Given the description of an element on the screen output the (x, y) to click on. 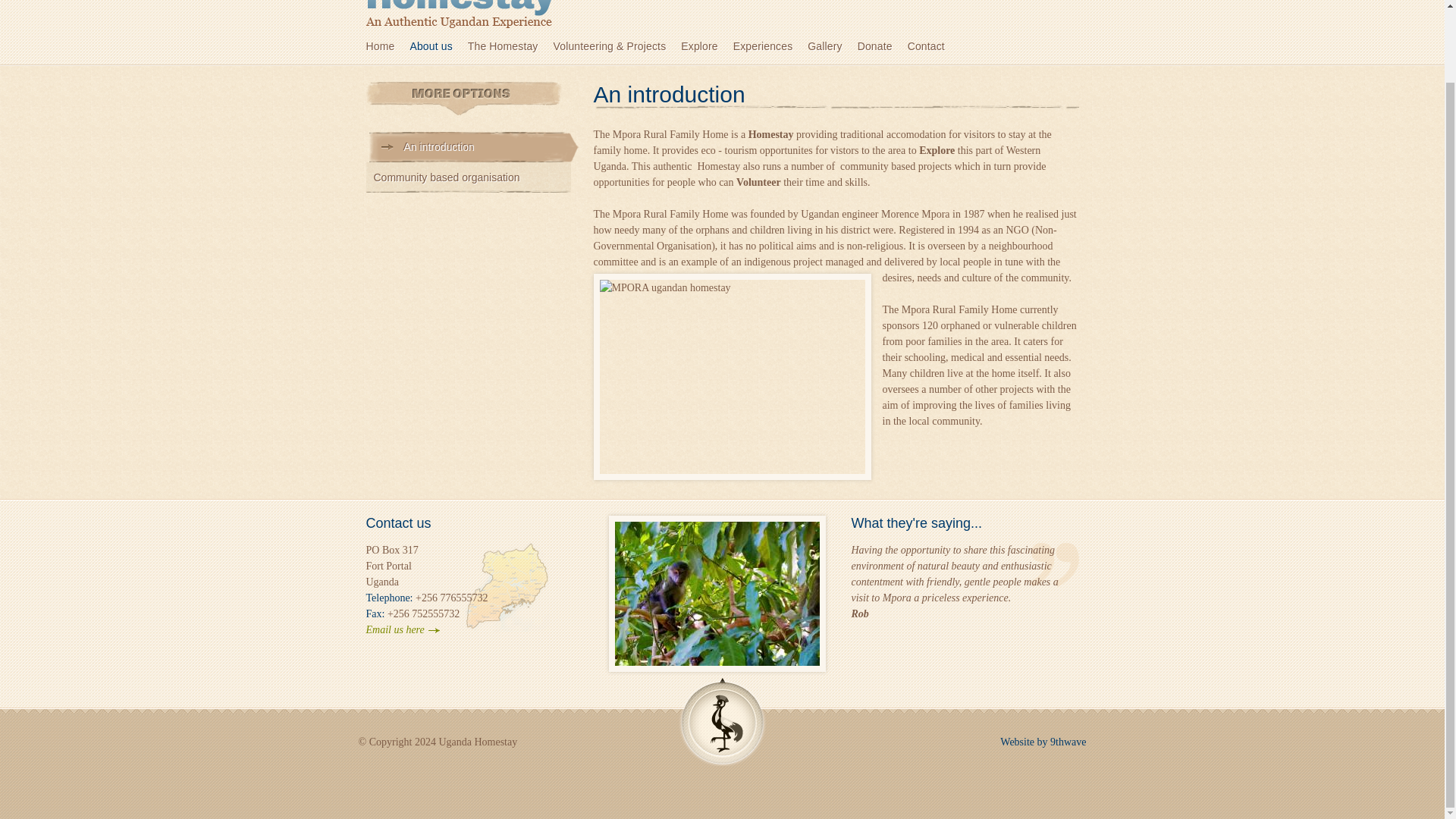
Contact (933, 46)
Experiences (770, 46)
Home (387, 46)
Experiences (770, 46)
An introduction (477, 152)
About us (438, 46)
Home (387, 46)
Community based organisation (467, 177)
Gallery (832, 46)
Scroll to top (722, 721)
The Homestay (510, 46)
The Homestay (510, 46)
Explore (706, 46)
Website by 9thwave (1043, 741)
Explore (706, 46)
